Given the description of an element on the screen output the (x, y) to click on. 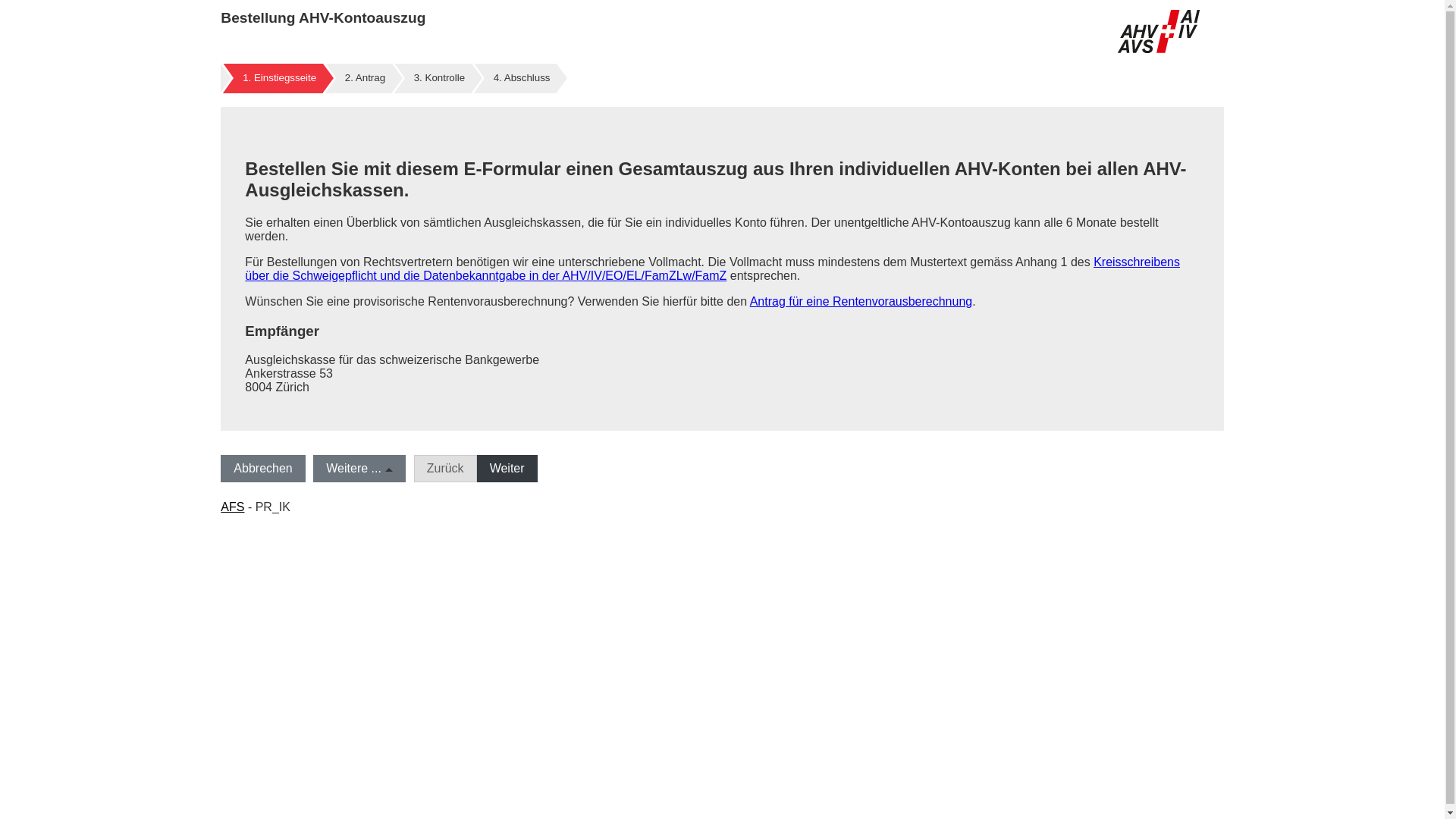
Abbrechen Element type: text (262, 468)
Weitere ... Element type: text (359, 468)
Weiter Element type: text (506, 468)
Titel Element type: hover (1158, 31)
Kontrolle Element type: text (439, 76)
Antrag Element type: text (365, 76)
AFS Element type: text (232, 506)
Abschluss Element type: text (521, 76)
Einstiegsseite Element type: text (279, 76)
